Given the description of an element on the screen output the (x, y) to click on. 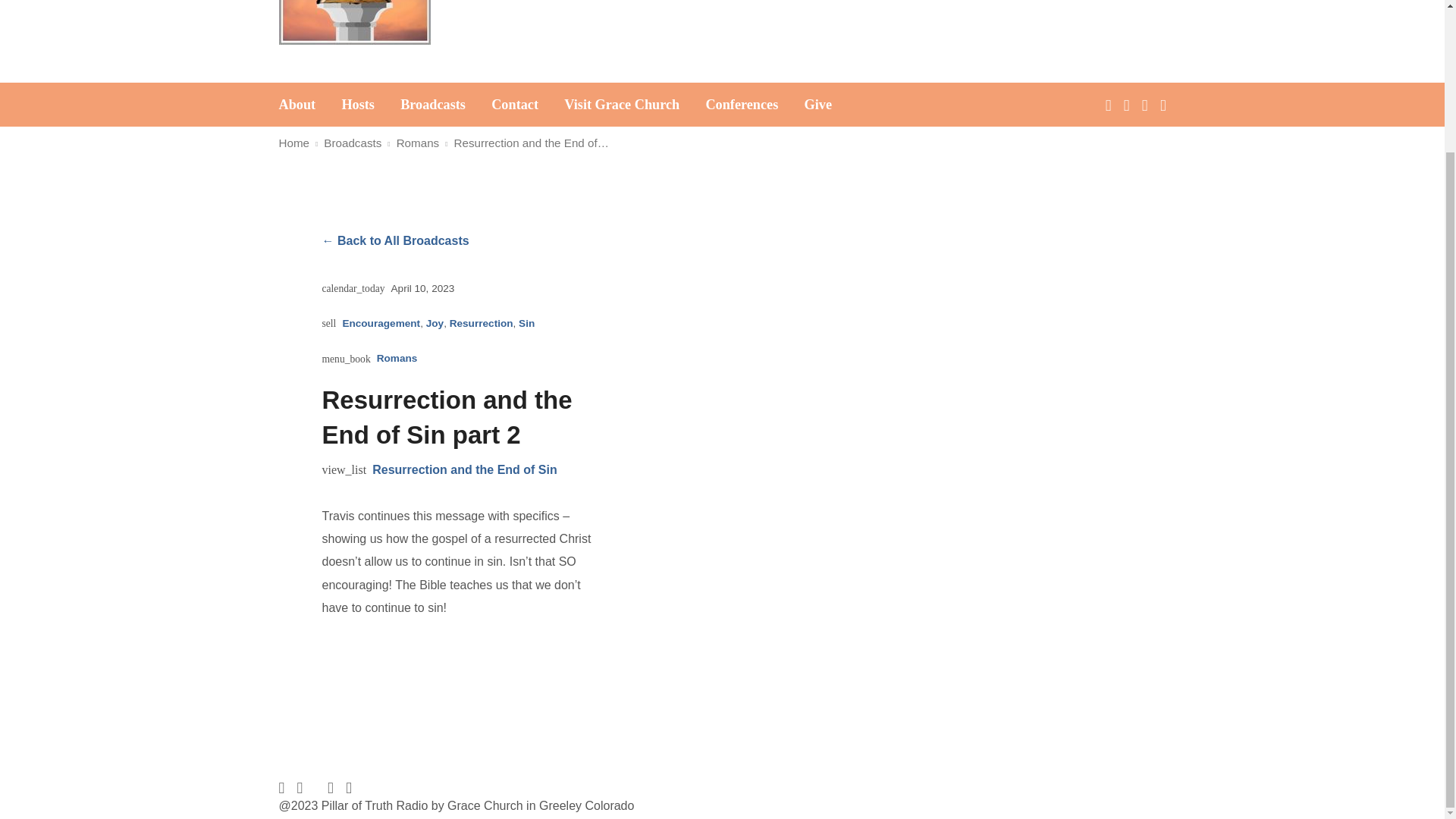
About (297, 104)
Encouragement (381, 323)
Back to All Broadcasts (394, 241)
Give (818, 104)
Romans (397, 358)
Resurrection and the End of Sin (464, 469)
Hosts (357, 104)
Contact (515, 104)
Resurrection (481, 323)
Home (294, 142)
